Given the description of an element on the screen output the (x, y) to click on. 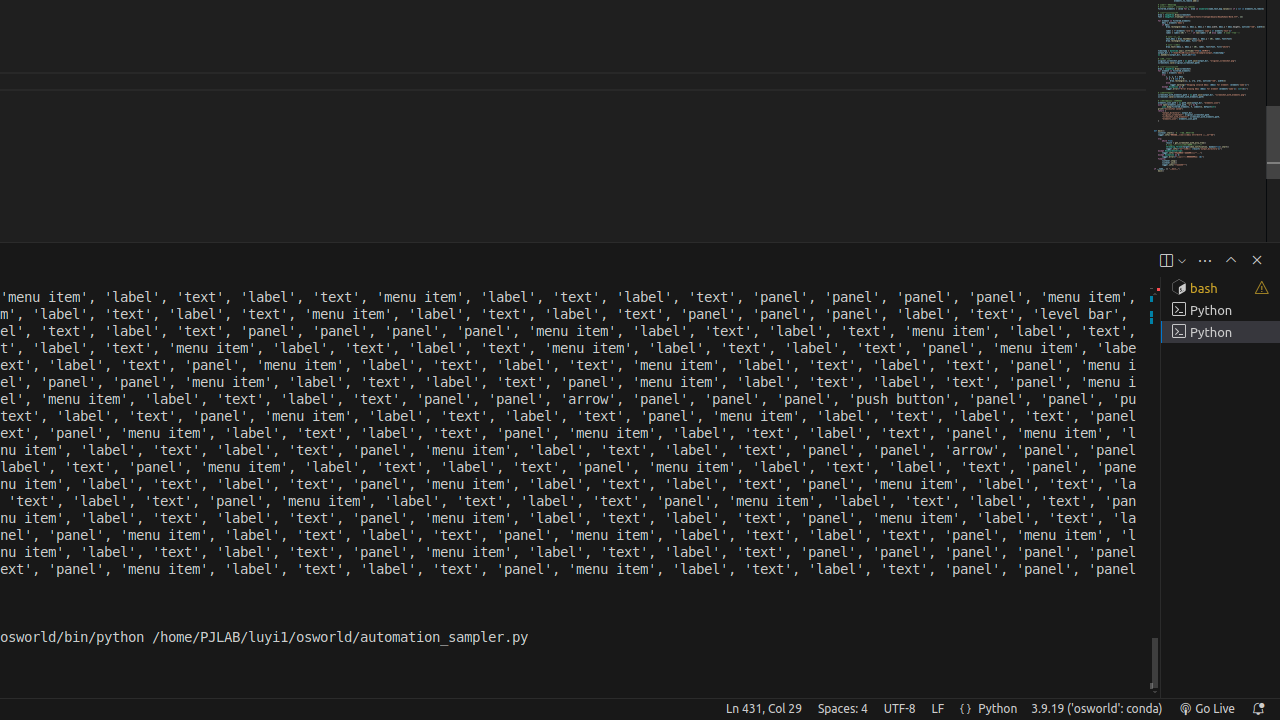
Terminal 5 Python Element type: list-item (1220, 332)
Terminal 1 bash Element type: list-item (1220, 288)
3.9.19 ('osworld': conda), ~/anaconda3/envs/osworld/bin/python Element type: push-button (1097, 709)
Hide Panel Element type: push-button (1257, 260)
New Terminal (Ctrl+Shift+`) [Alt] Split Terminal (Ctrl+Shift+5) Element type: push-button (1166, 260)
